Given the description of an element on the screen output the (x, y) to click on. 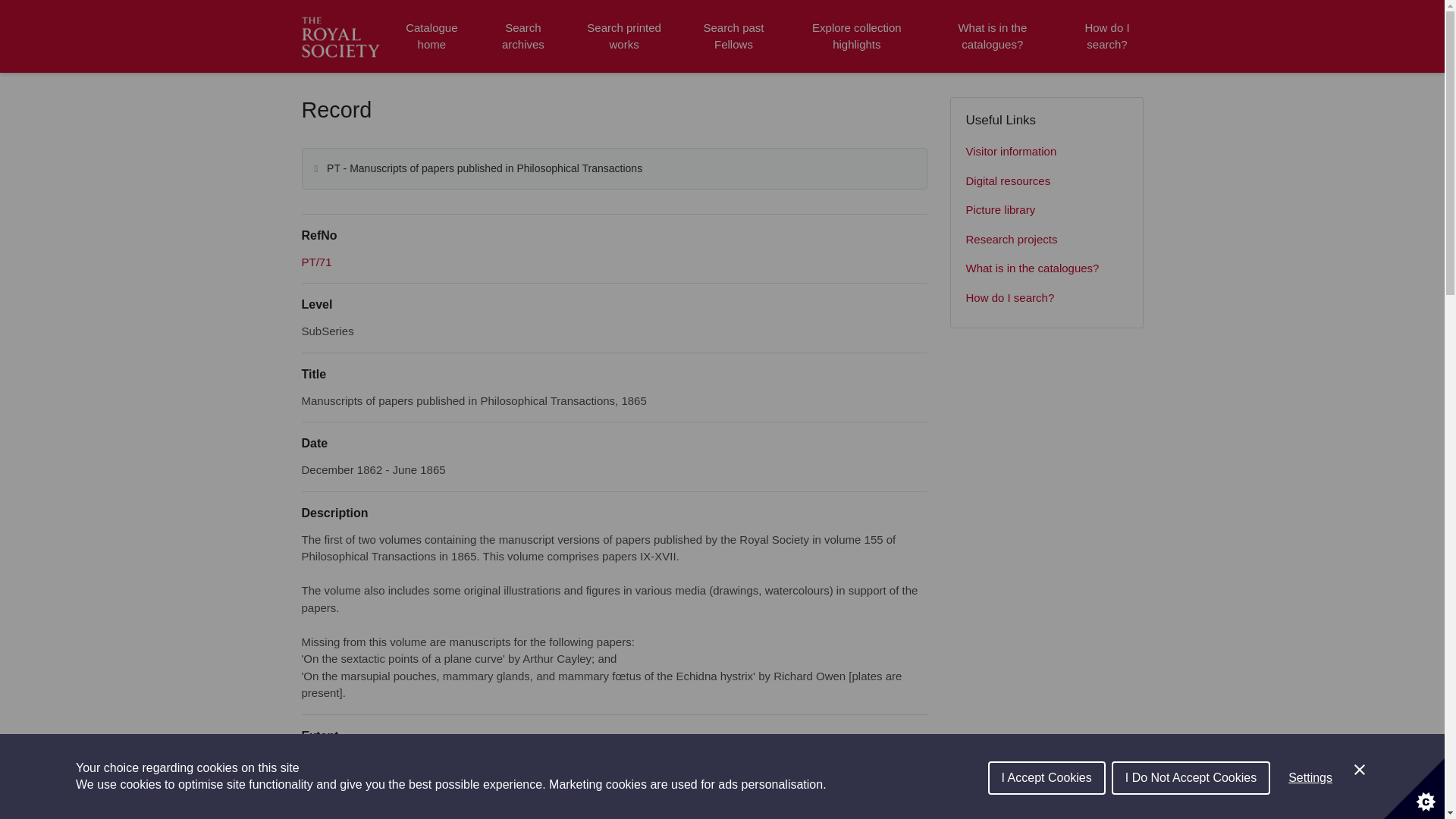
How do I search? (1046, 297)
Search past Fellows (732, 36)
Research projects (1046, 239)
Catalogue home (431, 36)
Homepage (343, 36)
Explore collection highlights (856, 36)
Visitor information (1046, 152)
How do I search? (1106, 36)
Picture library (1046, 210)
Search archives (522, 36)
Search printed works (624, 36)
What is in the catalogues? (991, 36)
Browse record in hierarchy. (316, 261)
What is in the catalogues? (1046, 268)
